Given the description of an element on the screen output the (x, y) to click on. 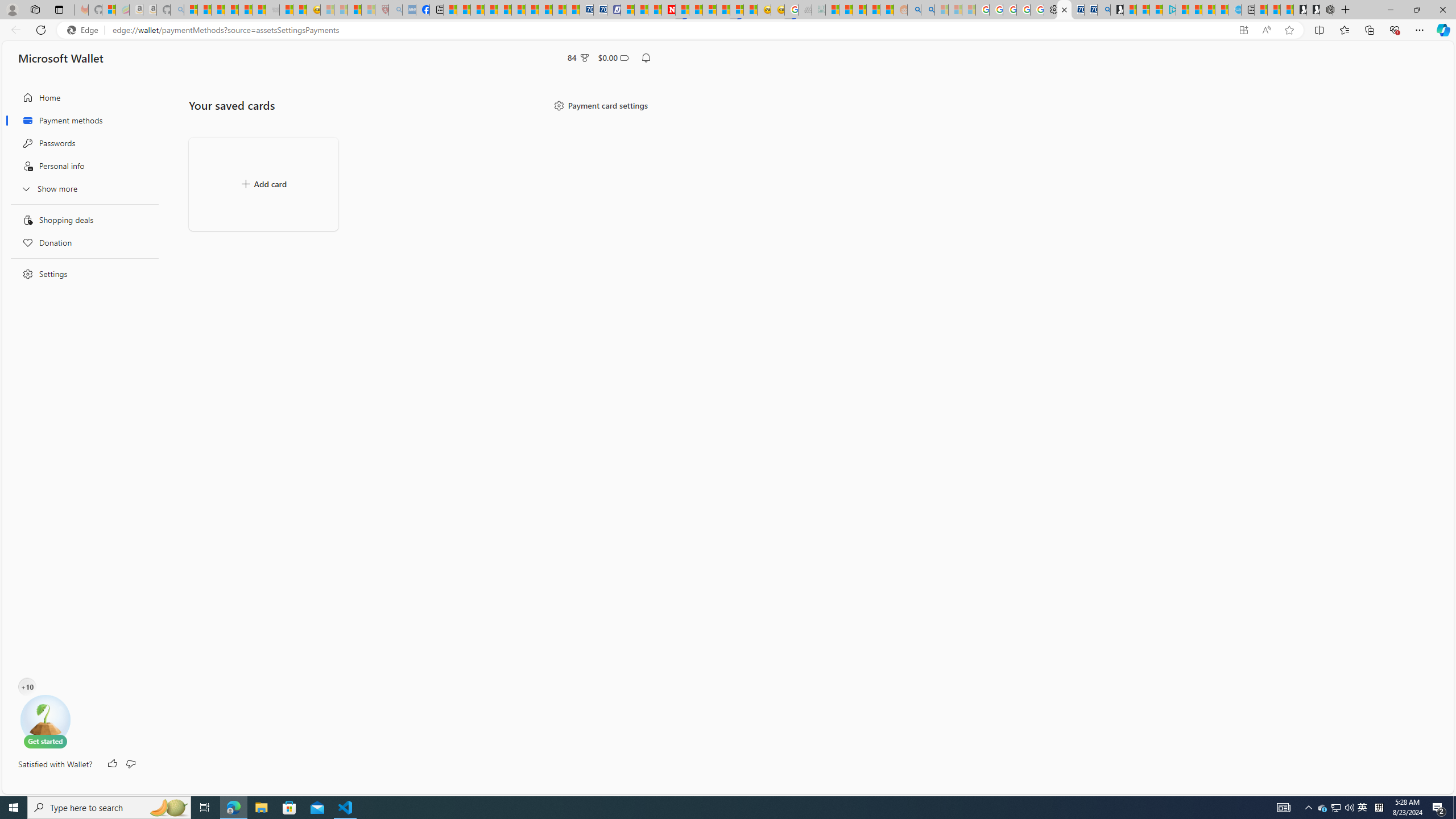
Donation (81, 242)
Add card (263, 184)
10 water drops in your E-tree (26, 689)
Climate Damage Becomes Too Severe To Reverse (490, 9)
Wallet (1063, 9)
